Given the description of an element on the screen output the (x, y) to click on. 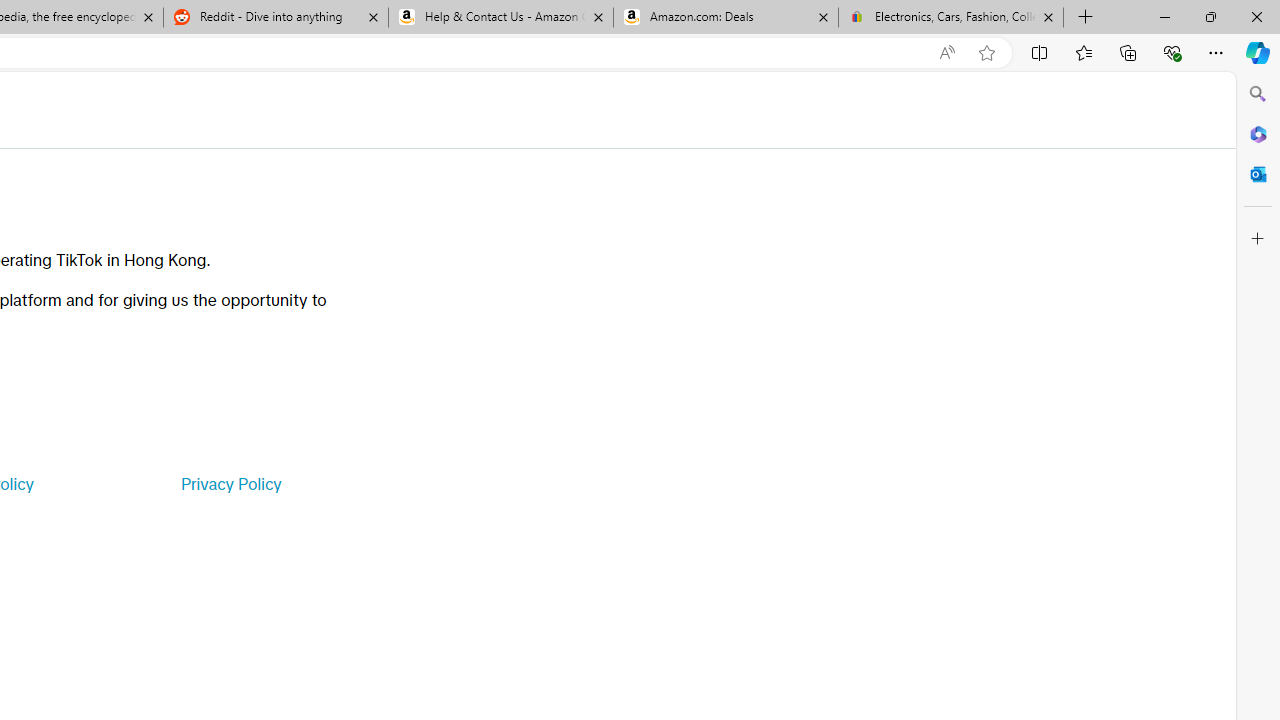
Reddit - Dive into anything (275, 17)
Help & Contact Us - Amazon Customer Service (501, 17)
Privacy Policy (230, 484)
Electronics, Cars, Fashion, Collectibles & More | eBay (950, 17)
